Given the description of an element on the screen output the (x, y) to click on. 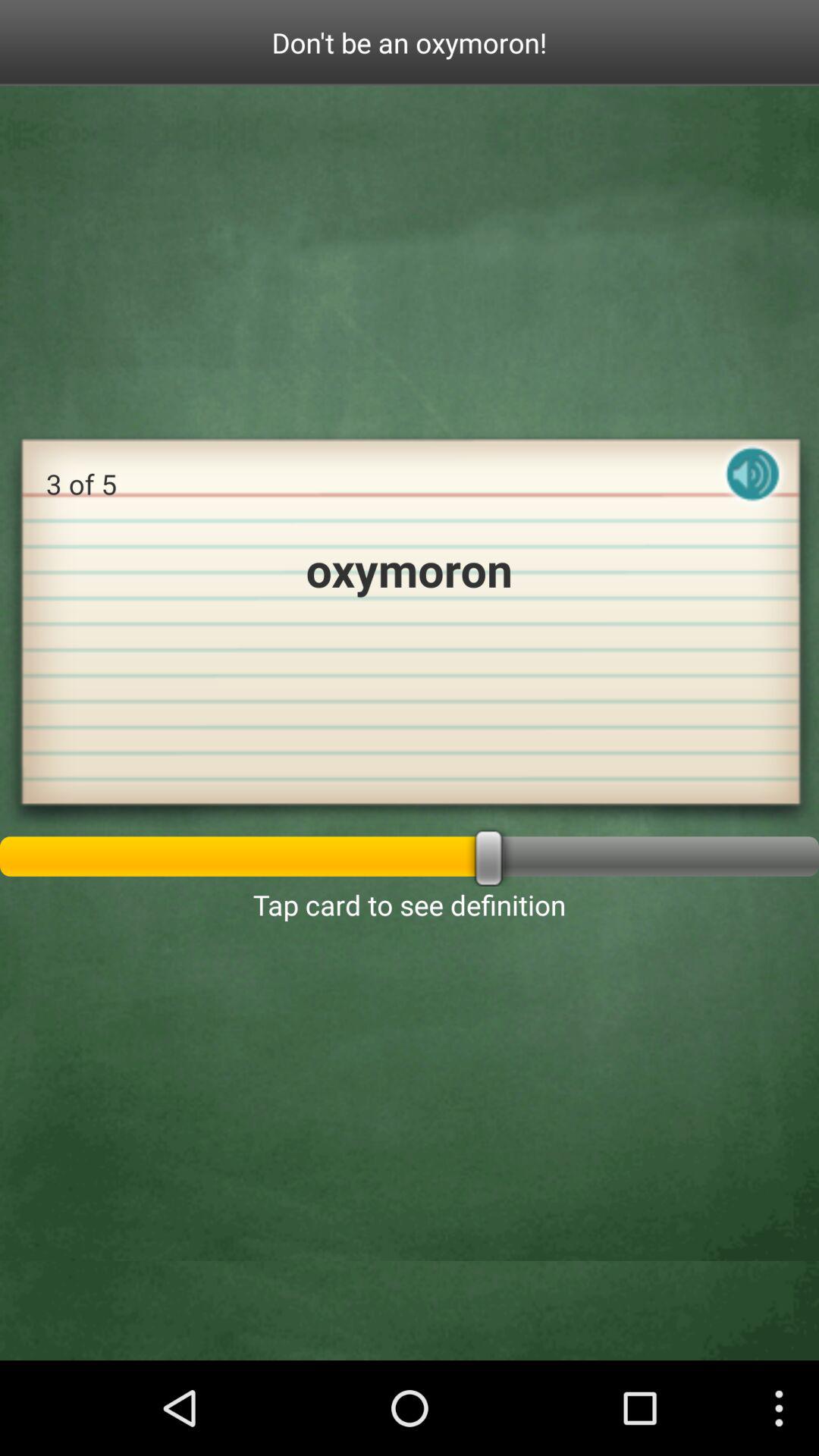
listen (752, 486)
